Given the description of an element on the screen output the (x, y) to click on. 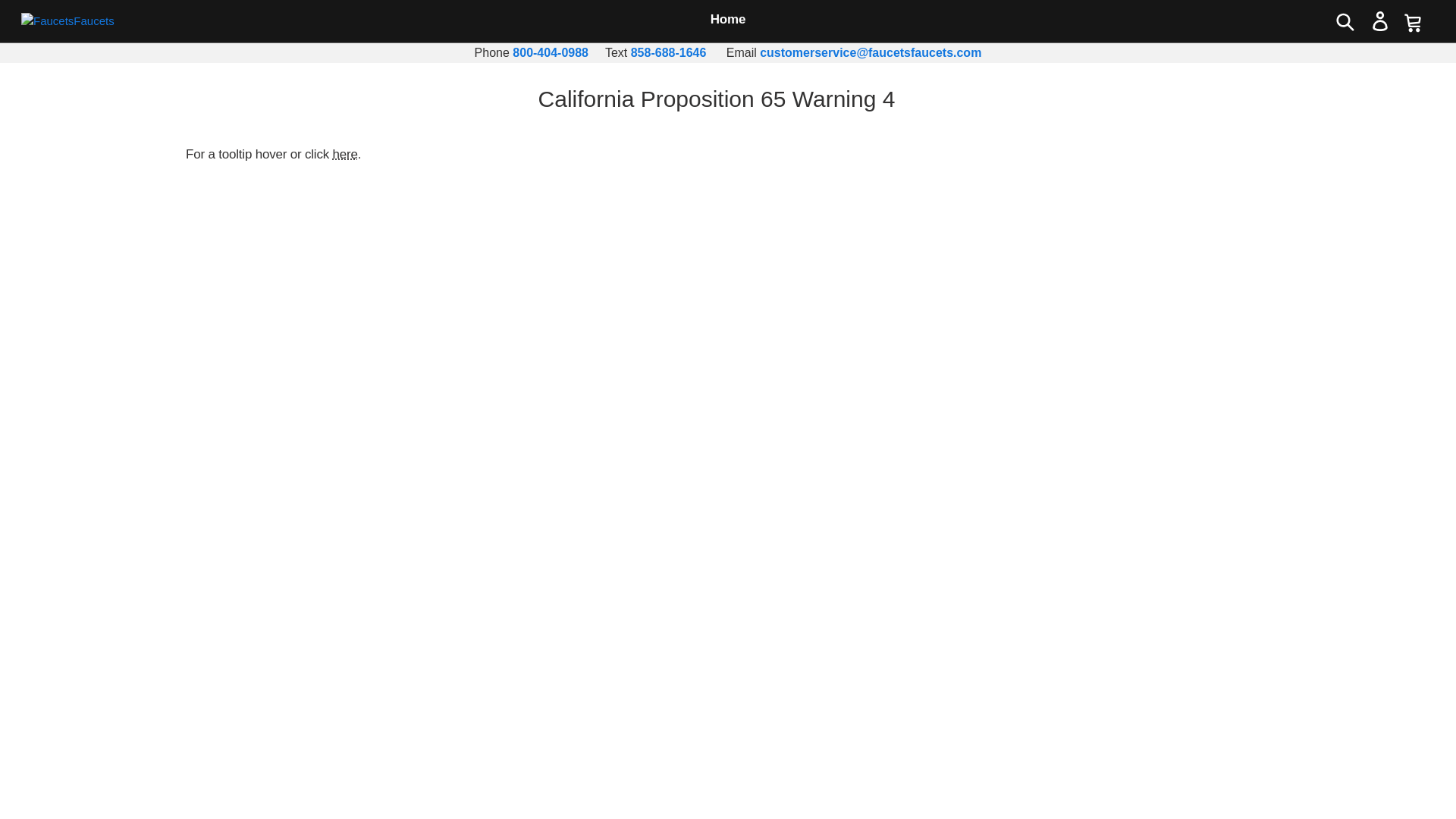
Home (727, 19)
This text will show up in your tooltip! (345, 154)
Log in (1379, 21)
858-688-1646 (668, 51)
800-404-0988 (550, 51)
Search (1345, 20)
Text 858-688-1646 (668, 51)
Cart (1412, 21)
Telephone 800-404-0988 (550, 51)
